Given the description of an element on the screen output the (x, y) to click on. 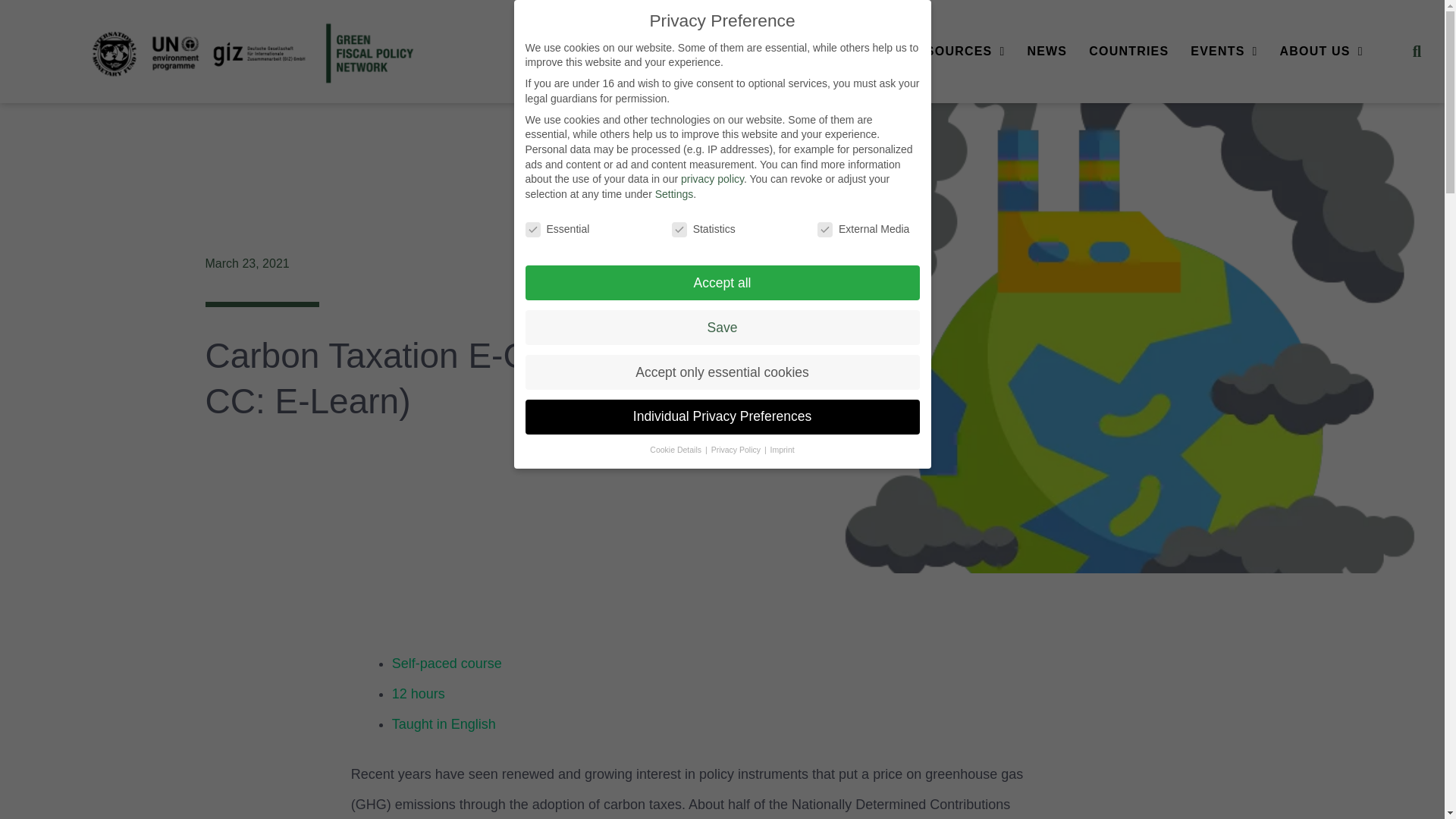
EVENTS (1223, 51)
THEMES (849, 51)
COUNTRIES (1128, 51)
OBSERVATORY (743, 51)
ABOUT US (1321, 51)
NEWS (1046, 51)
RESOURCES (955, 51)
